Given the description of an element on the screen output the (x, y) to click on. 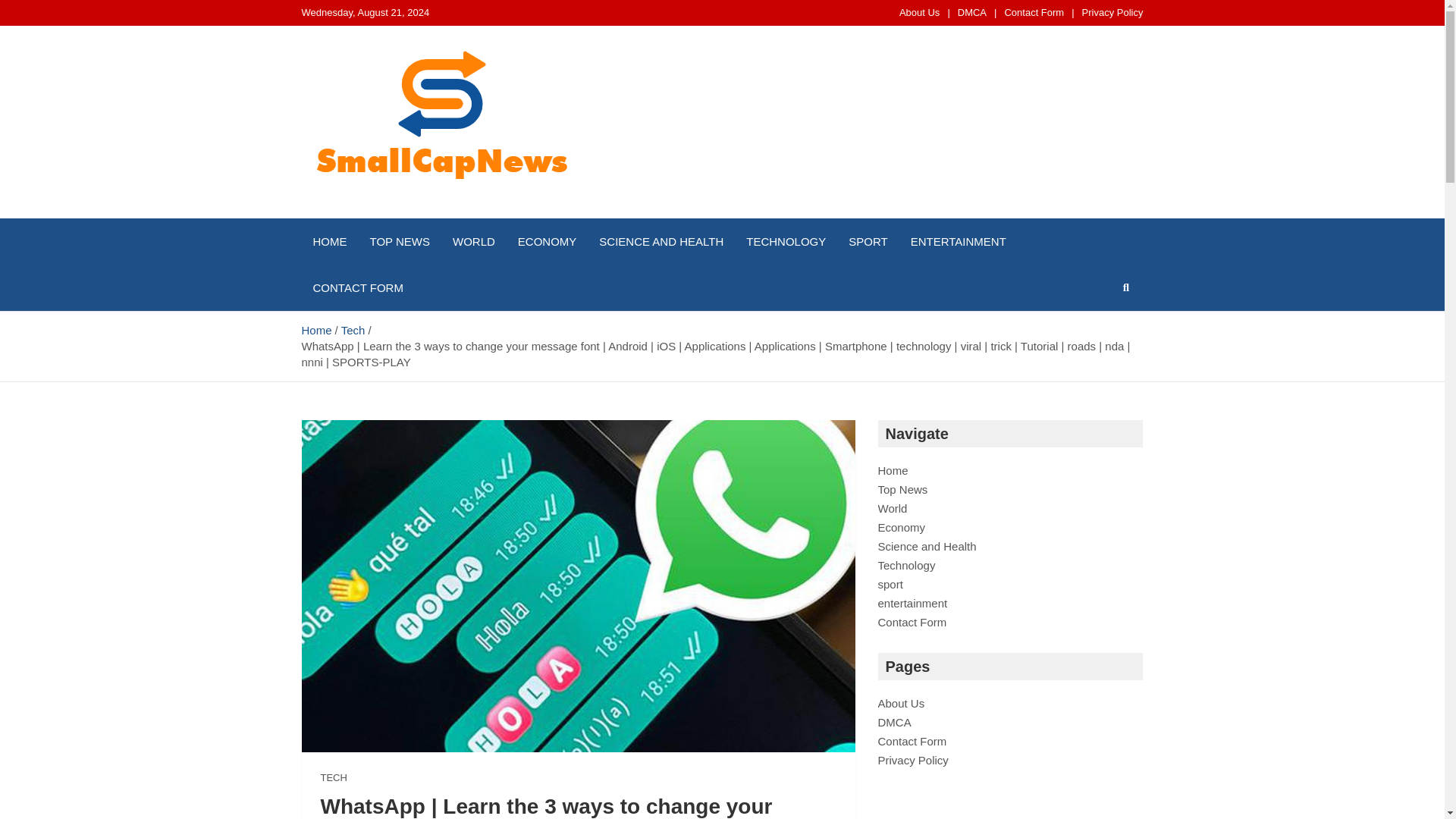
WORLD (473, 241)
DMCA (972, 12)
SCIENCE AND HEALTH (661, 241)
SmallCapNews.co.uk (454, 215)
About Us (919, 12)
ENTERTAINMENT (958, 241)
Home (316, 329)
Contact Form (1034, 12)
Home (892, 470)
Tech (352, 329)
